Given the description of an element on the screen output the (x, y) to click on. 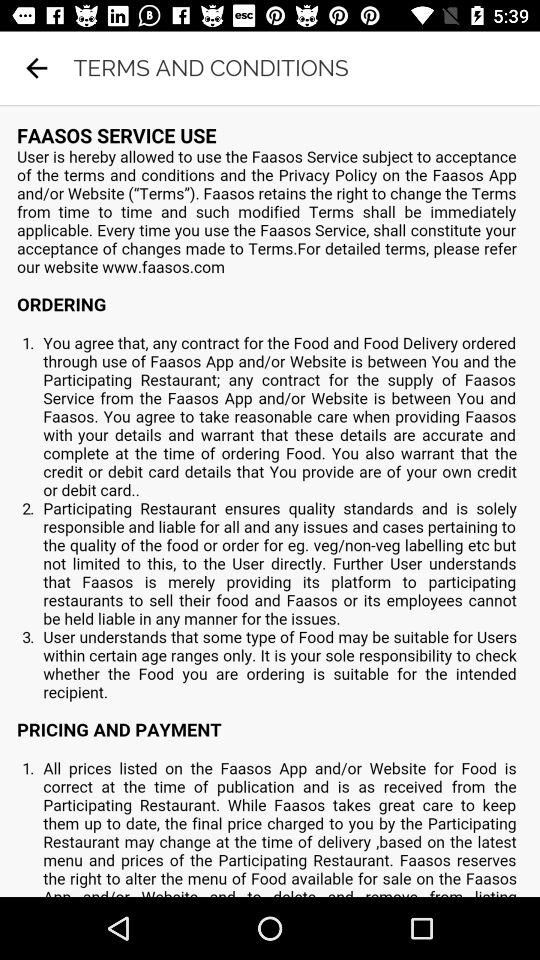
terms and condittions page (270, 501)
